Given the description of an element on the screen output the (x, y) to click on. 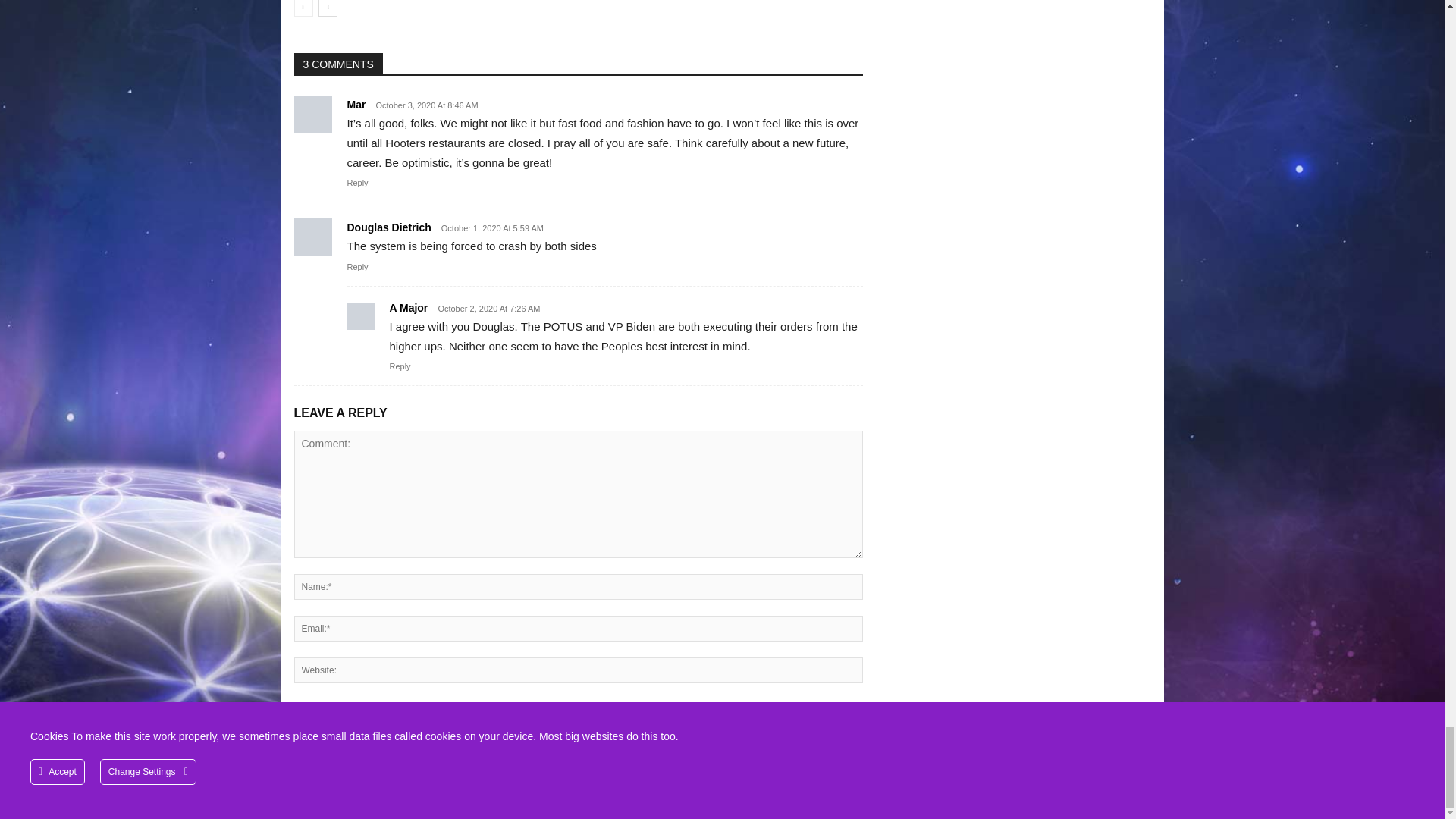
Post Comment (337, 743)
yes (299, 707)
